Given the description of an element on the screen output the (x, y) to click on. 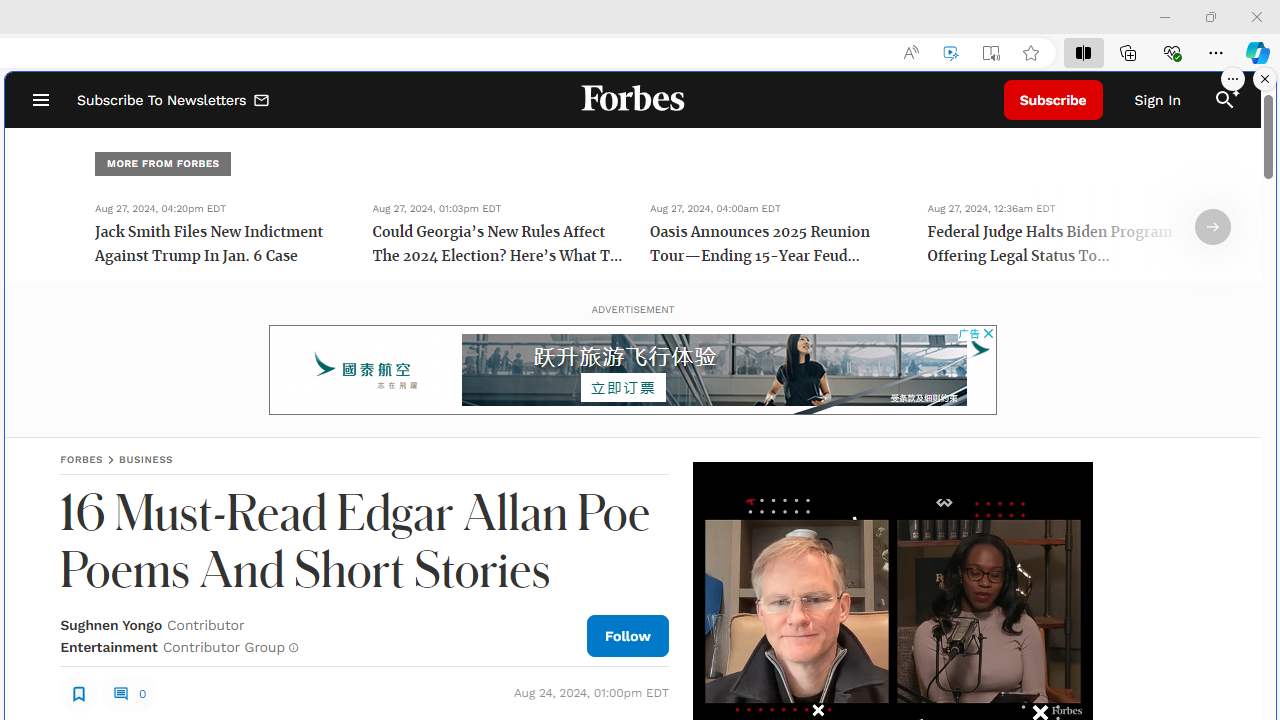
Subscribe To Newsletters (173, 99)
Class: fs-icon fs-icon--info (293, 647)
Class: envelope_svg__fs-icon envelope_svg__fs-icon--envelope (262, 102)
Class: sparkles_svg__fs-icon sparkles_svg__fs-icon--sparkles (1233, 91)
Forbes Logo (632, 99)
Arrow Right (1213, 227)
Class: sElHJWe4 (79, 692)
BUSINESS (145, 459)
0 (128, 693)
